Given the description of an element on the screen output the (x, y) to click on. 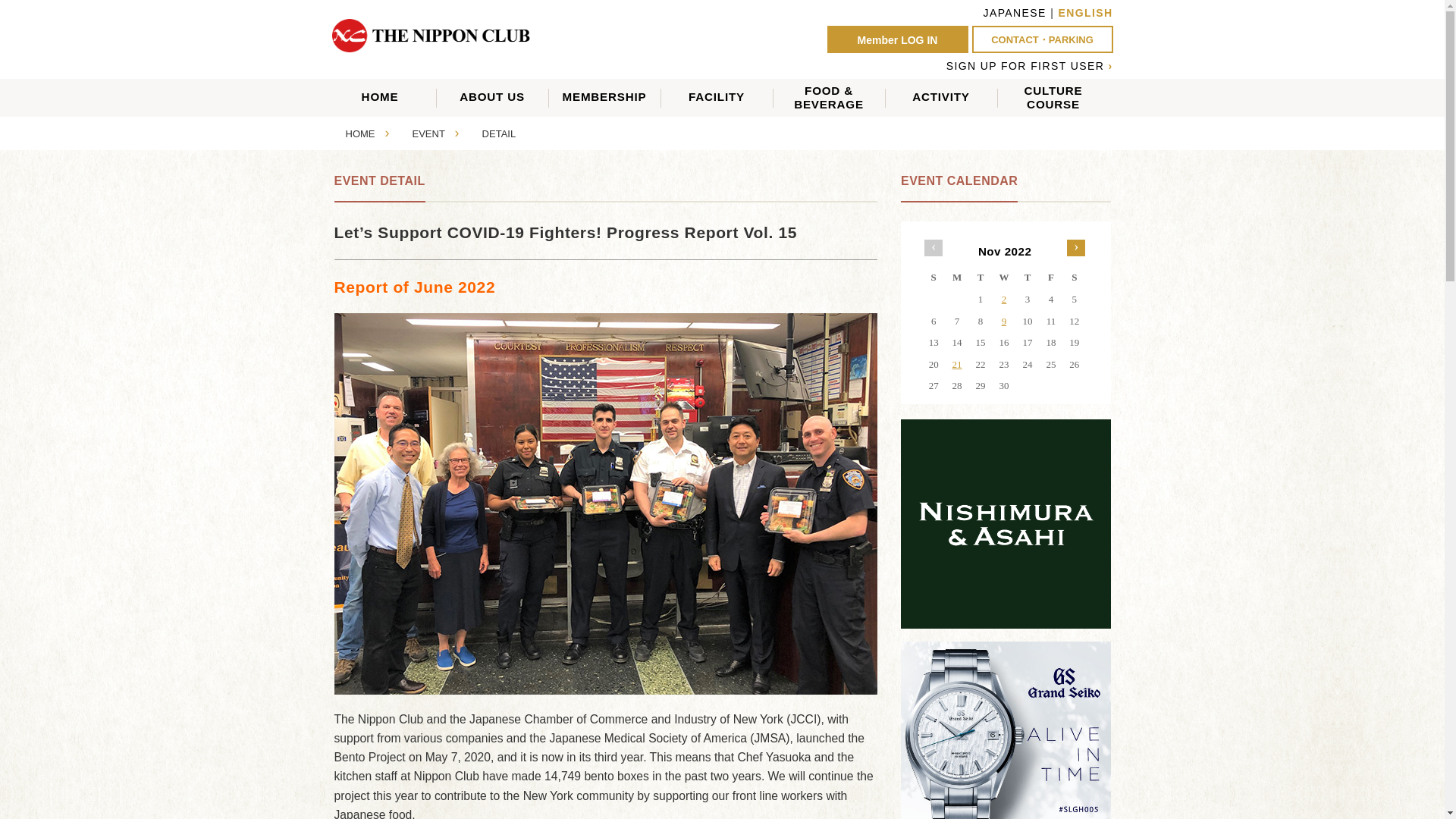
SIGN UP FOR FIRST USER (1024, 65)
FACILITY (717, 96)
MEMBERSHIP (604, 96)
HOME (360, 133)
ACTIVITY (941, 96)
JAPANESE (1015, 12)
HOME (379, 96)
EVENT (428, 133)
ABOUT US (1053, 100)
Member LOG IN (492, 96)
